Given the description of an element on the screen output the (x, y) to click on. 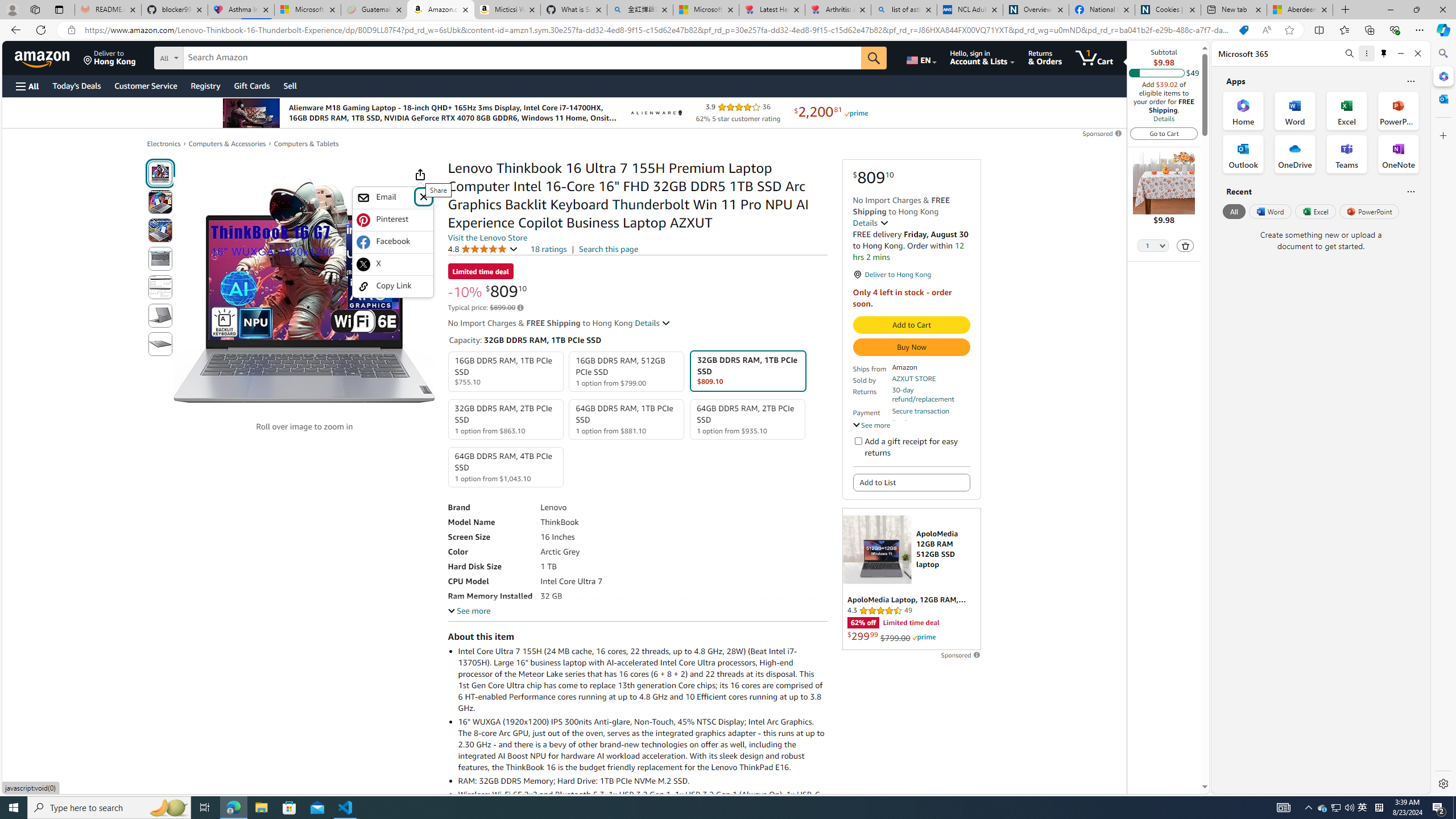
Product support included (930, 427)
OneNote Office App (1398, 154)
Choose a language for shopping. (920, 57)
1 item in cart (1094, 57)
Email (384, 197)
32GB DDR5 RAM, 2TB PCIe SSD 1 option from $863.10 (505, 418)
Go (873, 57)
Pinterest (392, 219)
Deliver to Hong Kong (109, 57)
